Given the description of an element on the screen output the (x, y) to click on. 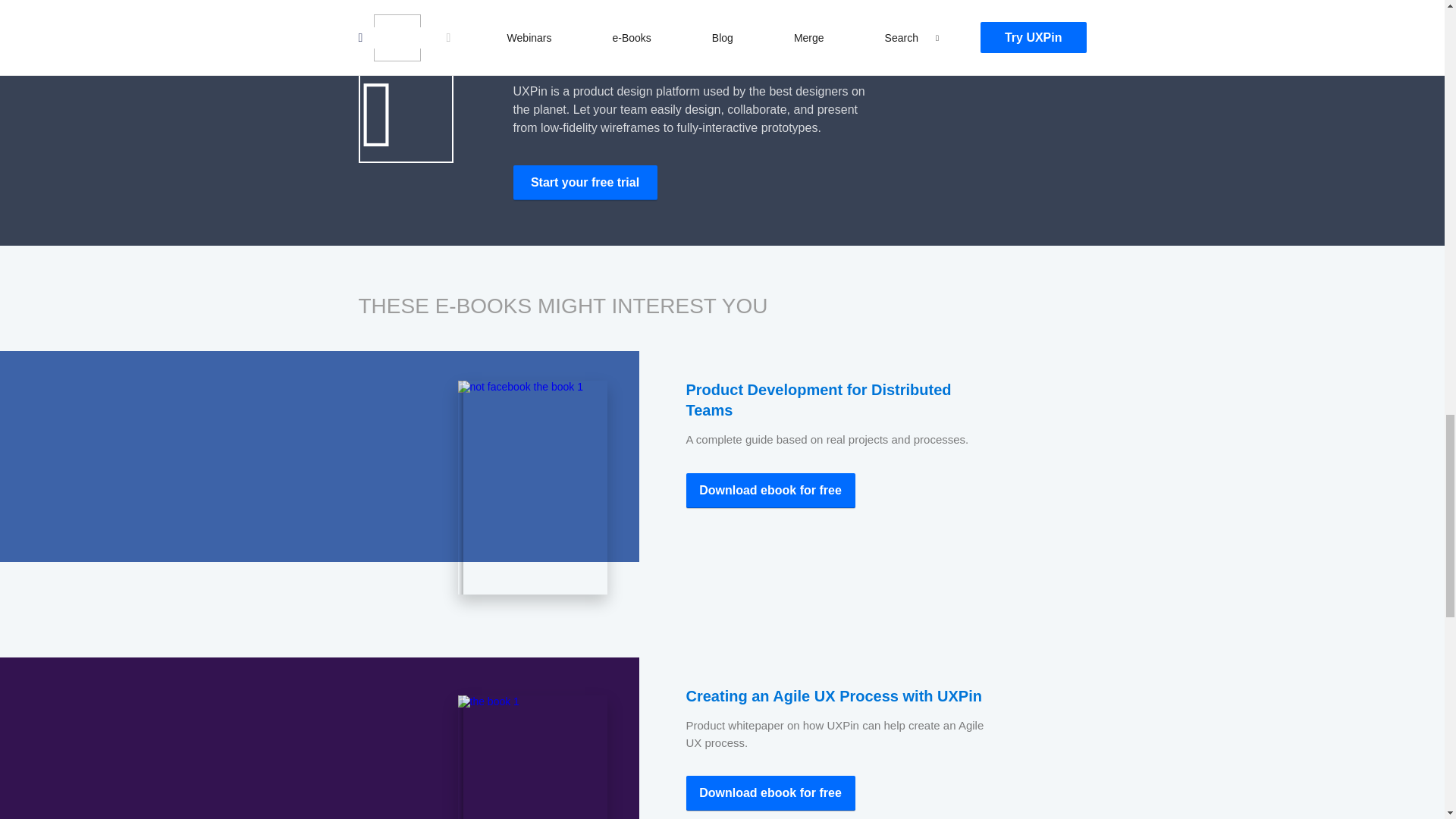
Product Development for Distributed Teams (817, 399)
Download ebook for free (769, 490)
Creating an Agile UX Process with UXPin (833, 695)
Download ebook for free (769, 792)
Start your free trial (584, 182)
UXPin (584, 182)
